Given the description of an element on the screen output the (x, y) to click on. 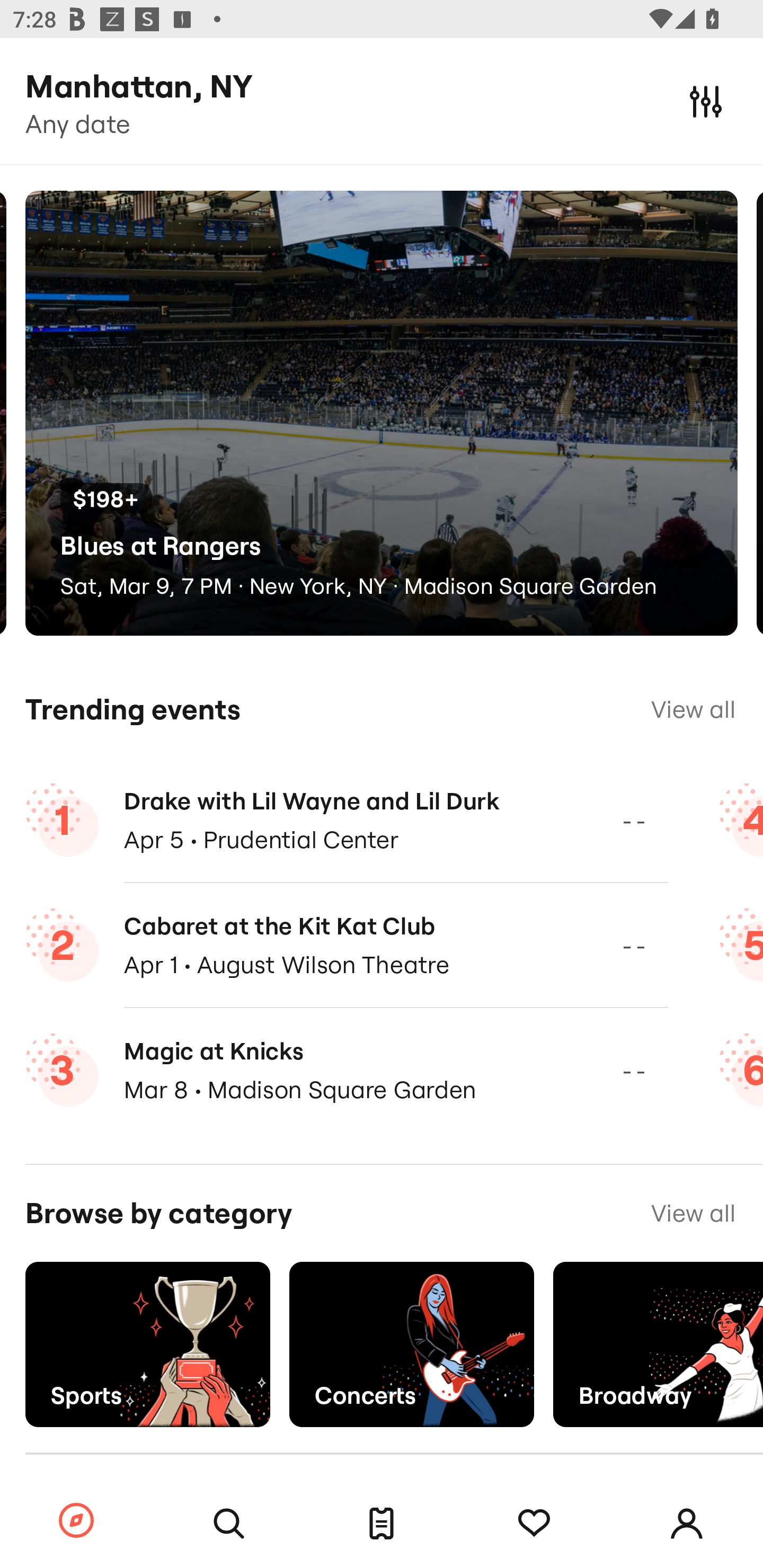
Filters (705, 100)
View all (693, 709)
View all (693, 1213)
Sports (147, 1344)
Concerts (411, 1344)
Broadway (658, 1344)
Browse (76, 1521)
Search (228, 1523)
Tickets (381, 1523)
Tracking (533, 1523)
Account (686, 1523)
